Given the description of an element on the screen output the (x, y) to click on. 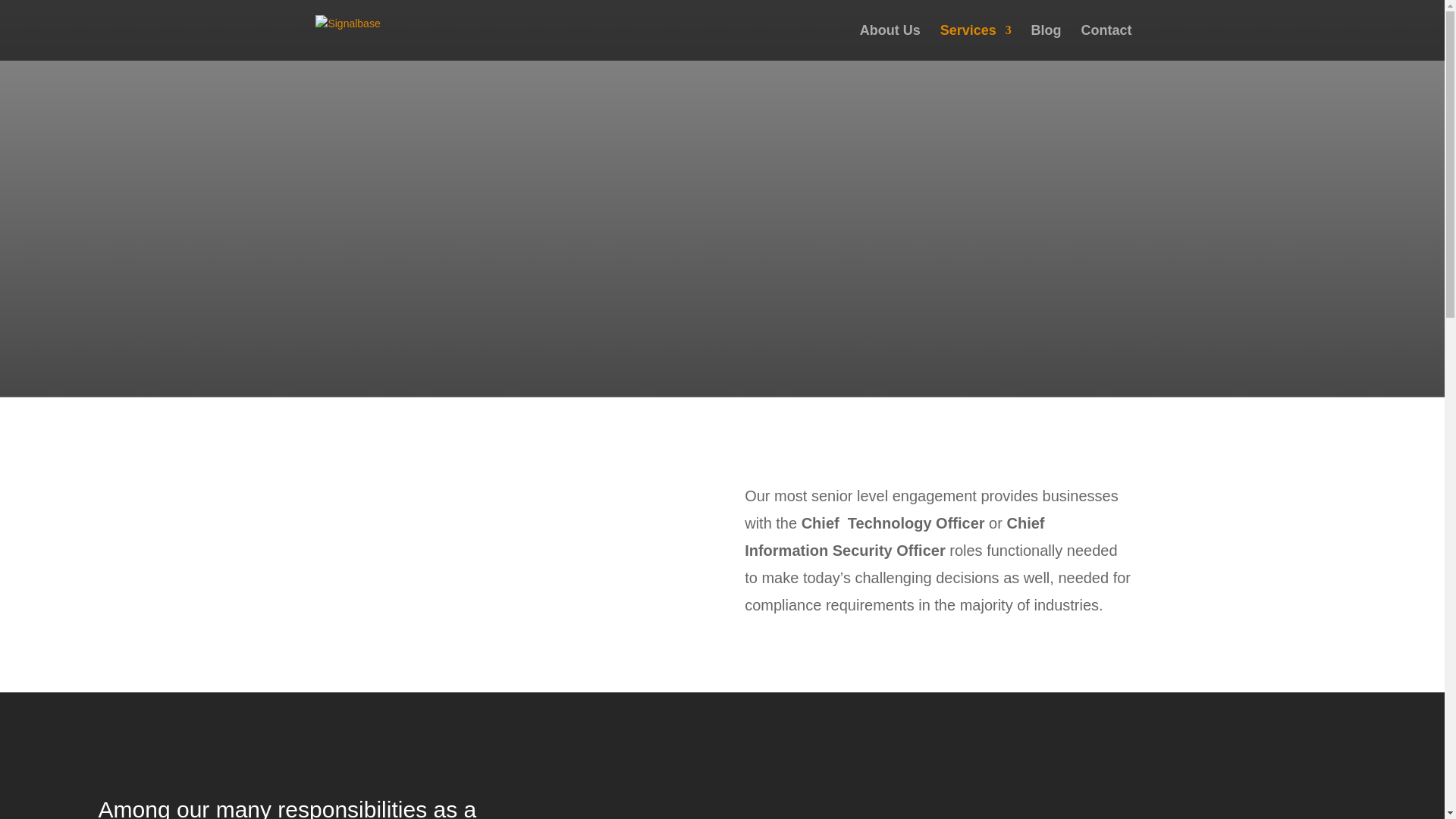
About Us (890, 42)
Services (975, 42)
Contact (1106, 42)
Blog (1045, 42)
